Given the description of an element on the screen output the (x, y) to click on. 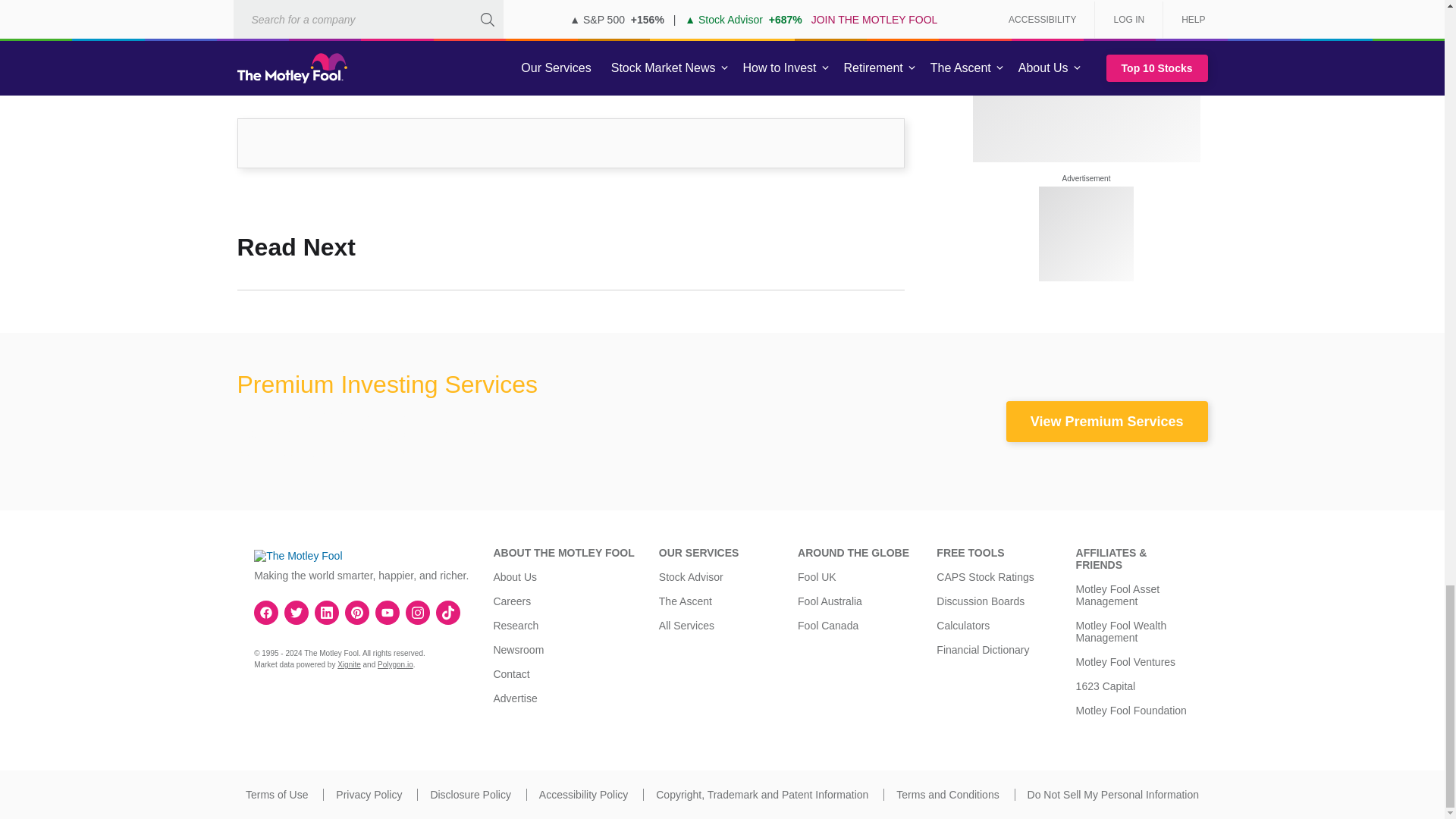
Terms and Conditions (947, 794)
Terms of Use (276, 794)
Copyright, Trademark and Patent Information (761, 794)
Accessibility Policy (582, 794)
Do Not Sell My Personal Information. (1112, 794)
Privacy Policy (368, 794)
Disclosure Policy (470, 794)
